Given the description of an element on the screen output the (x, y) to click on. 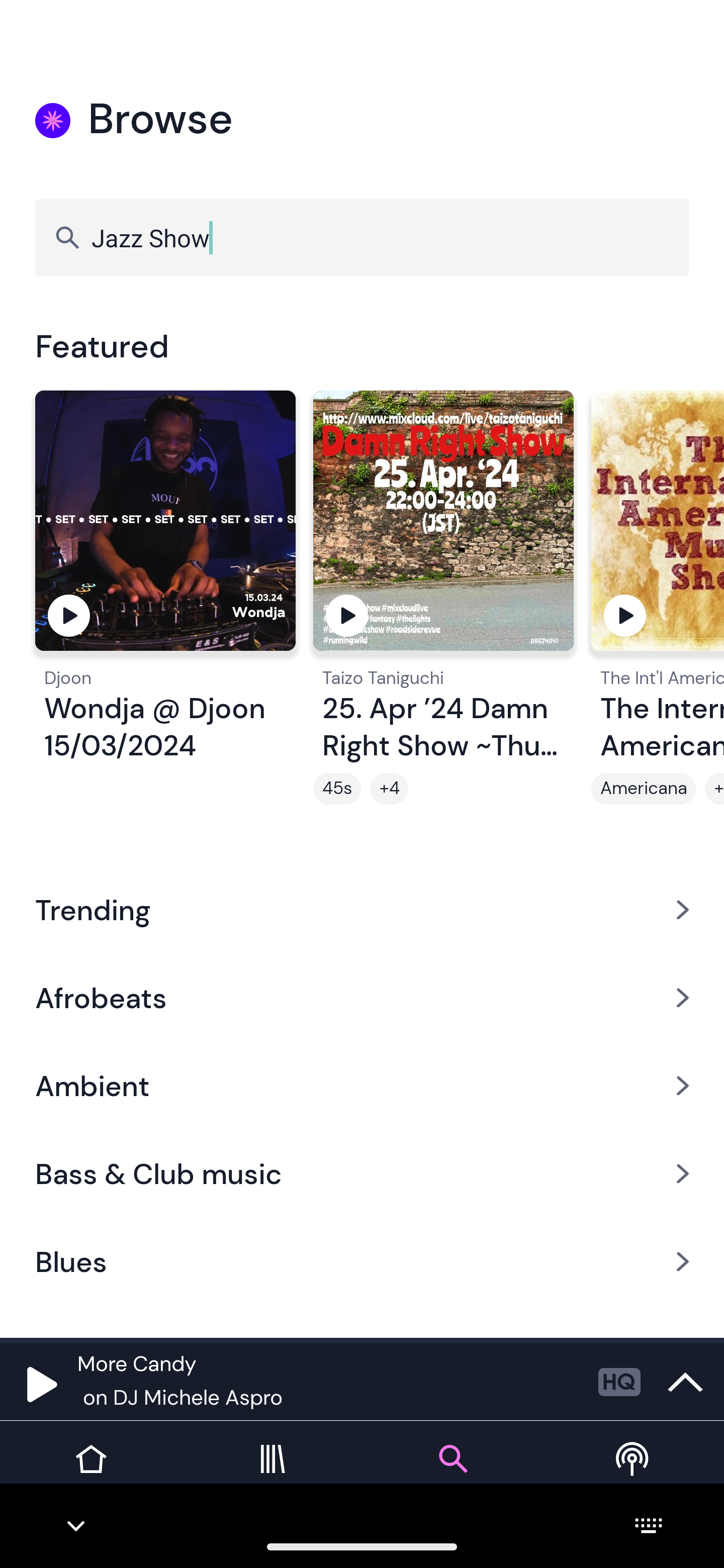
Jazz Show (361, 237)
45s (337, 788)
Americana (643, 788)
Trending (361, 909)
Afrobeats (361, 997)
Ambient (361, 1085)
Bass & Club music (361, 1174)
Blues (361, 1262)
Home tab (90, 1473)
Library tab (271, 1473)
Browse tab (452, 1473)
Live tab (633, 1473)
